Given the description of an element on the screen output the (x, y) to click on. 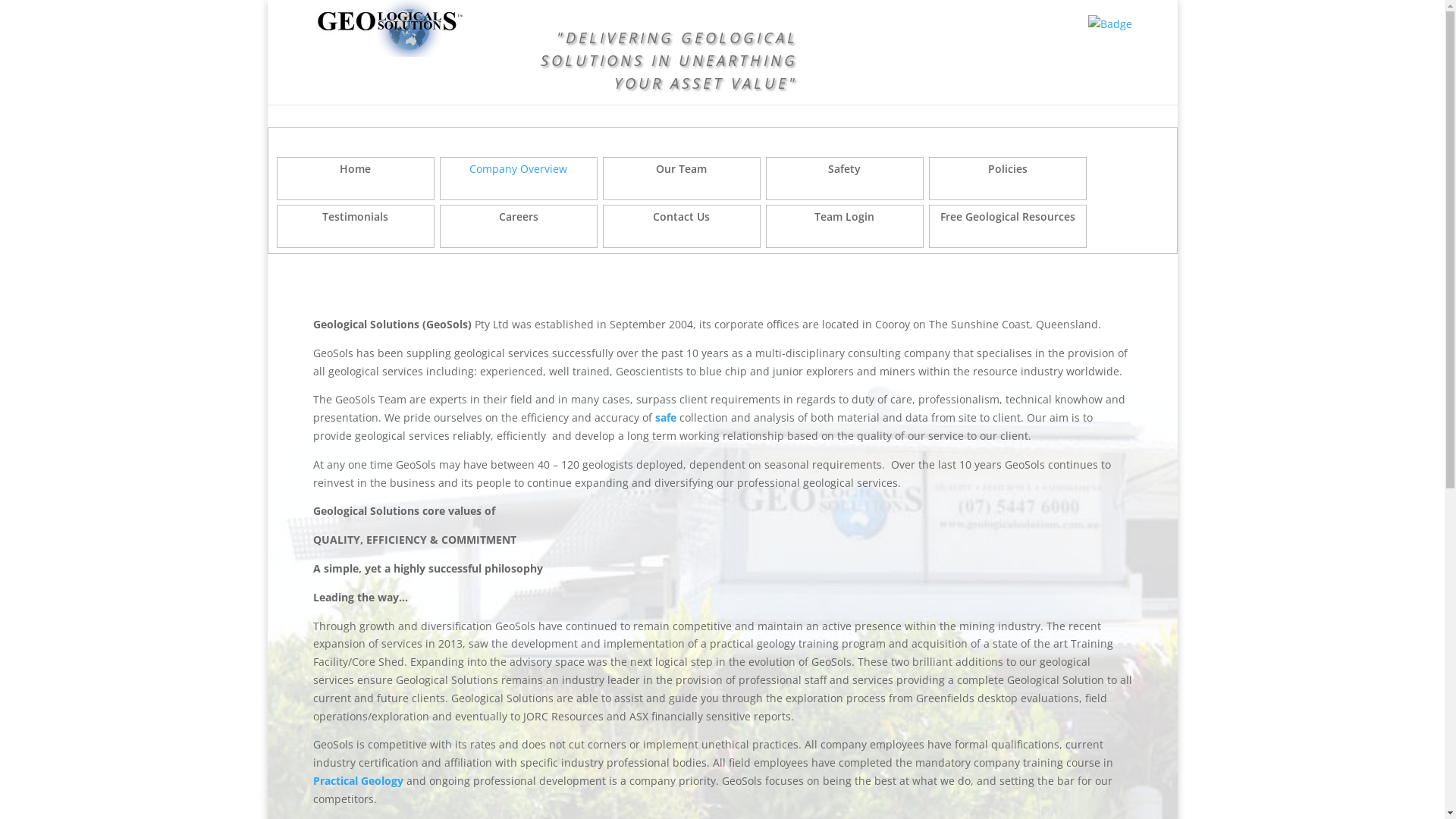
Safety Element type: text (844, 178)
Our Team Element type: text (680, 178)
Policies Element type: text (1006, 178)
Practical Geology Element type: text (357, 780)
Contact Us Element type: text (680, 225)
safe Element type: text (665, 417)
Team Login Element type: text (844, 225)
Company Overview Element type: text (518, 178)
Testimonials Element type: text (354, 225)
Free Geological Resources Element type: text (1006, 225)
Home Element type: text (354, 178)
Careers Element type: text (518, 225)
